Given the description of an element on the screen output the (x, y) to click on. 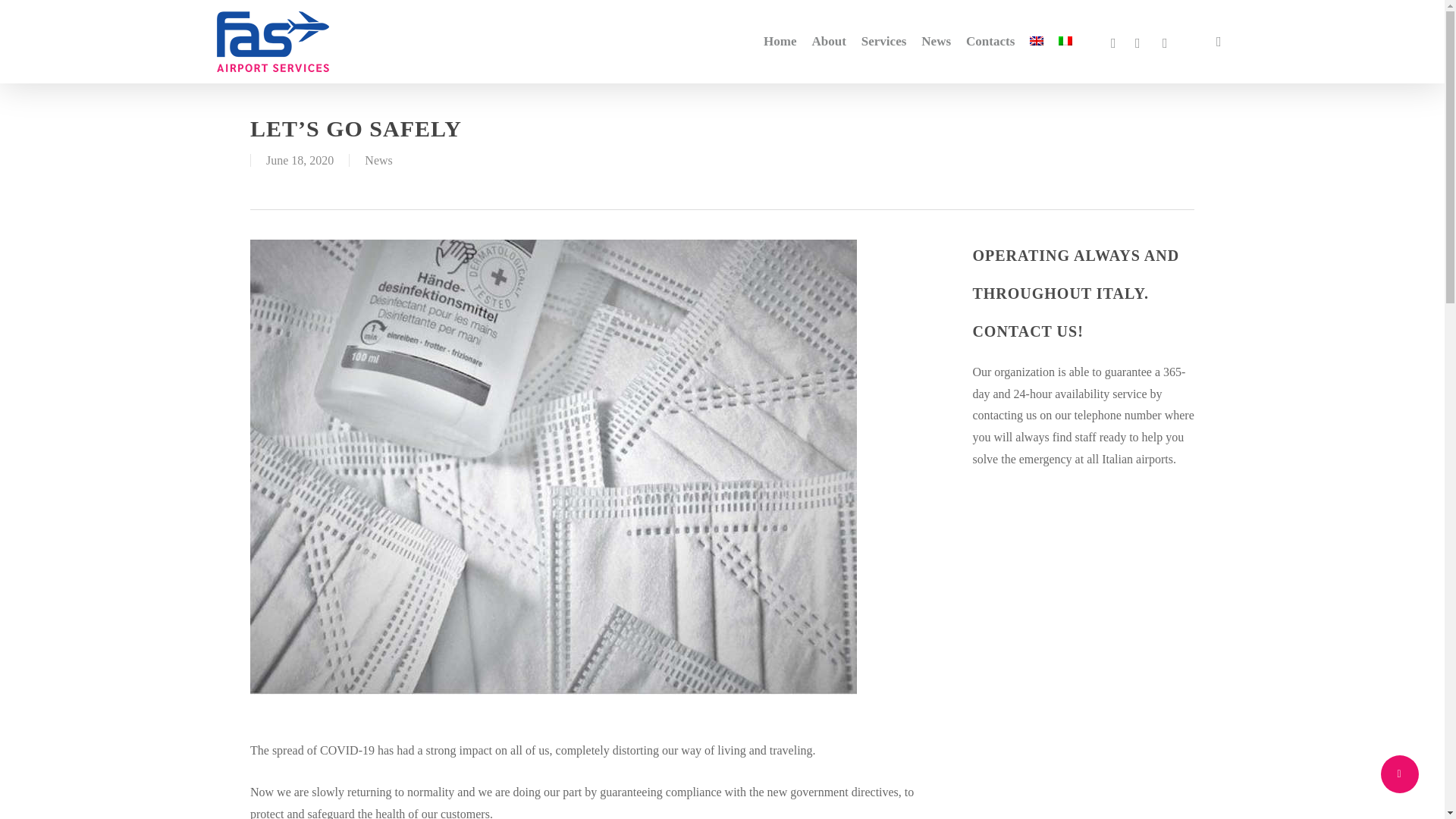
About (827, 41)
News (378, 160)
instagram (1164, 41)
Contacts (990, 41)
facebook (1113, 41)
Home (779, 41)
search (1218, 41)
Services (883, 41)
linkedin (1137, 41)
News (935, 41)
